Given the description of an element on the screen output the (x, y) to click on. 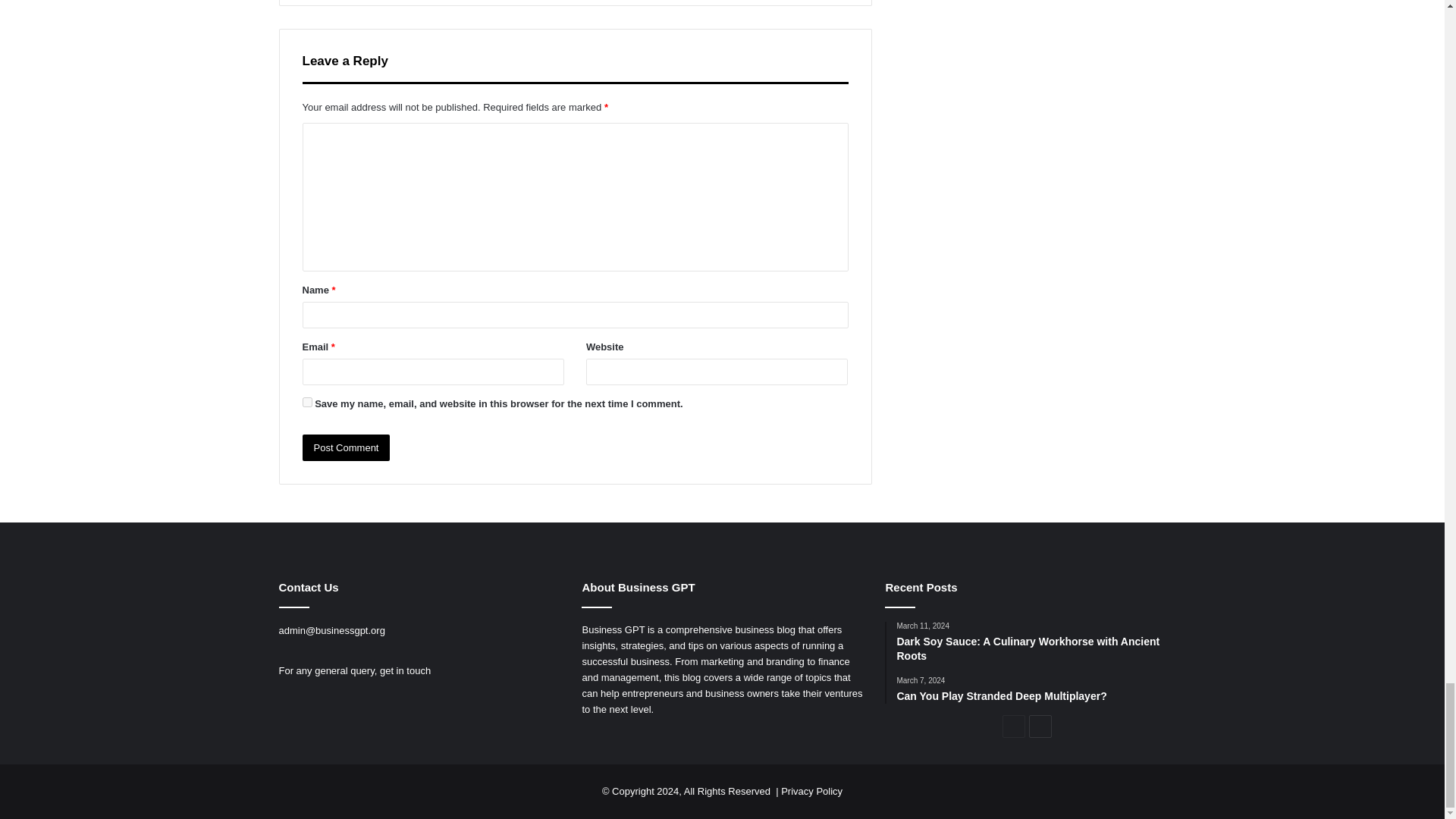
yes (306, 402)
Post Comment (345, 447)
